Given the description of an element on the screen output the (x, y) to click on. 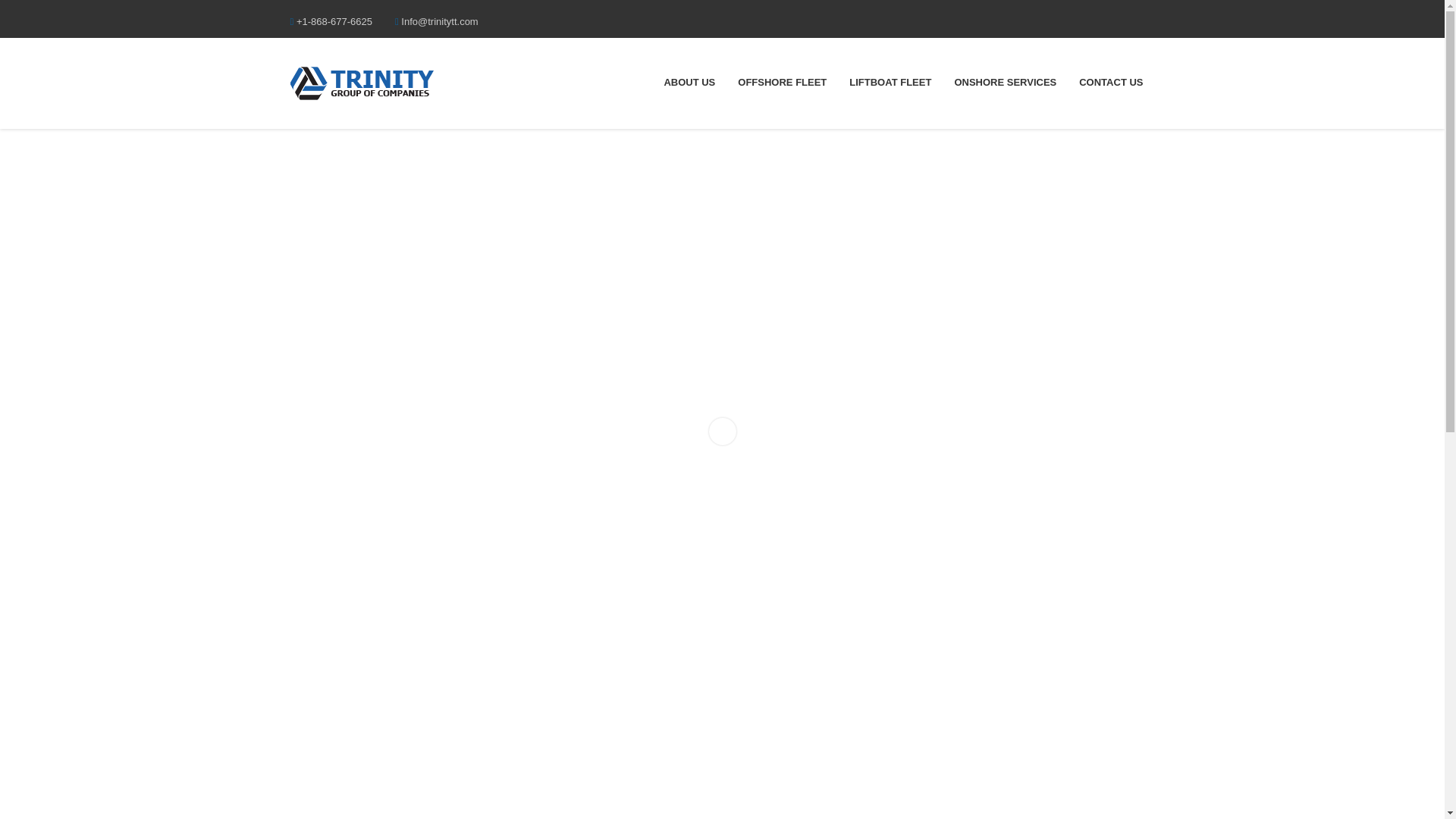
OFFSHORE FLEET (782, 82)
ABOUT US (689, 82)
CONTACT US (1110, 82)
ONSHORE SERVICES (1004, 82)
LIFTBOAT FLEET (890, 82)
